Given the description of an element on the screen output the (x, y) to click on. 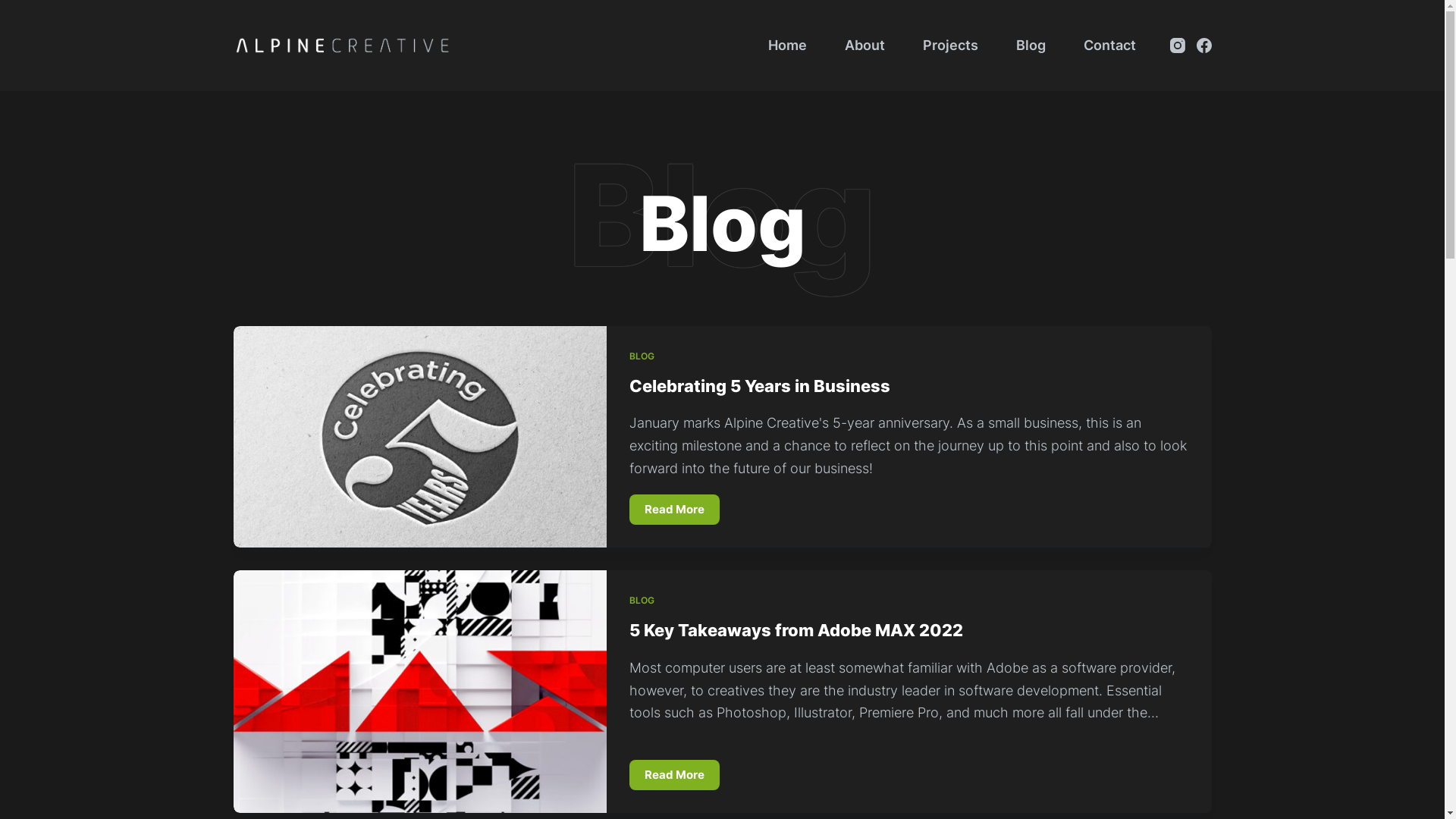
BLOG Element type: text (641, 355)
Projects Element type: text (950, 45)
Contact Element type: text (1109, 45)
Home Element type: text (787, 45)
Skip to content Element type: text (15, 7)
Read More
5 Key Takeaways from Adobe MAX 2022 Element type: text (674, 774)
5 Key Takeaways from Adobe MAX 2022 Element type: text (796, 630)
BLOG Element type: text (641, 599)
Blog Element type: text (1029, 45)
Read More
Celebrating 5 Years in Business Element type: text (674, 509)
Celebrating 5 Years in Business Element type: text (759, 385)
About Element type: text (864, 45)
